Given the description of an element on the screen output the (x, y) to click on. 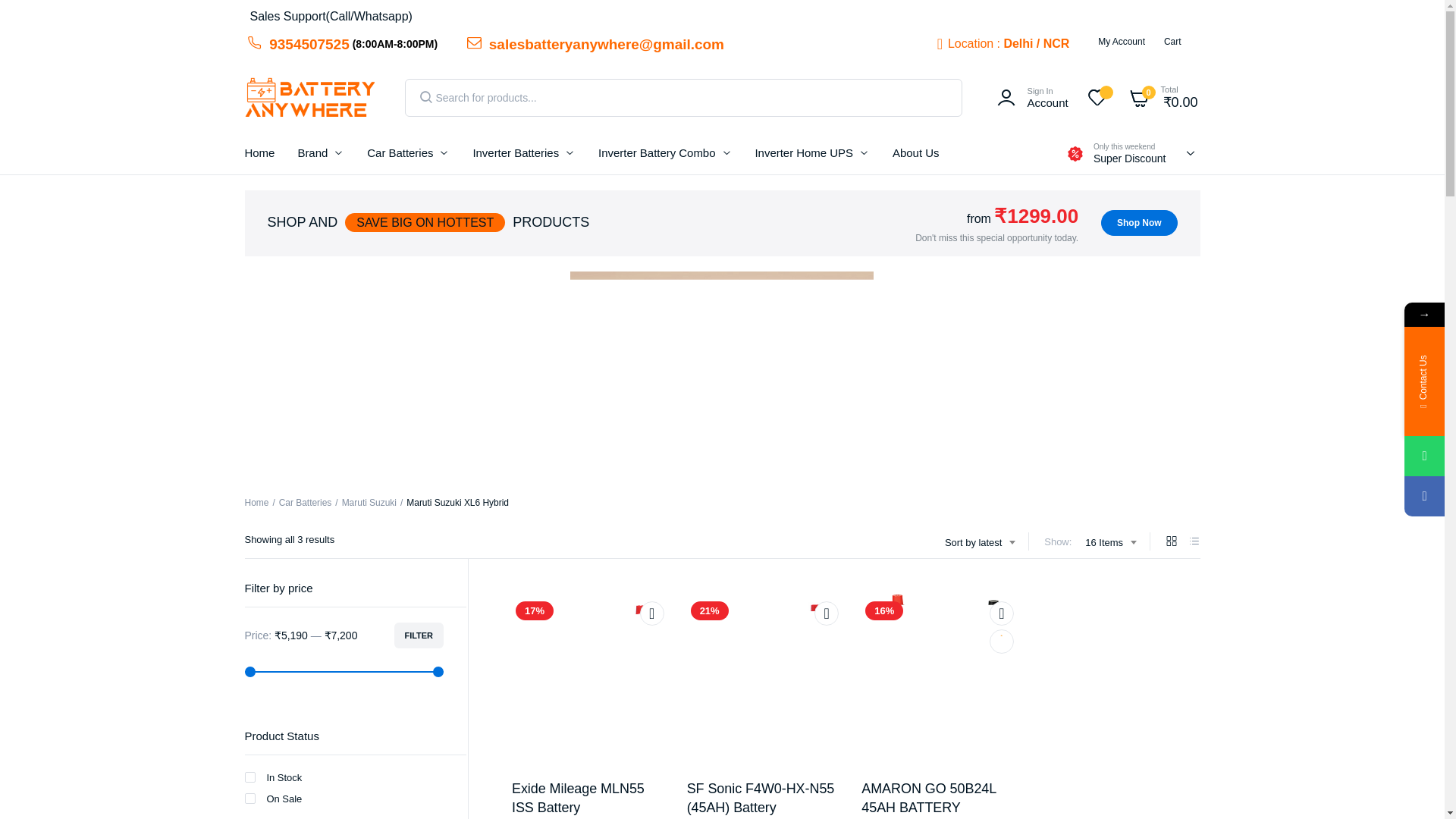
Sort by latest (979, 542)
16 Items (1109, 542)
